Given the description of an element on the screen output the (x, y) to click on. 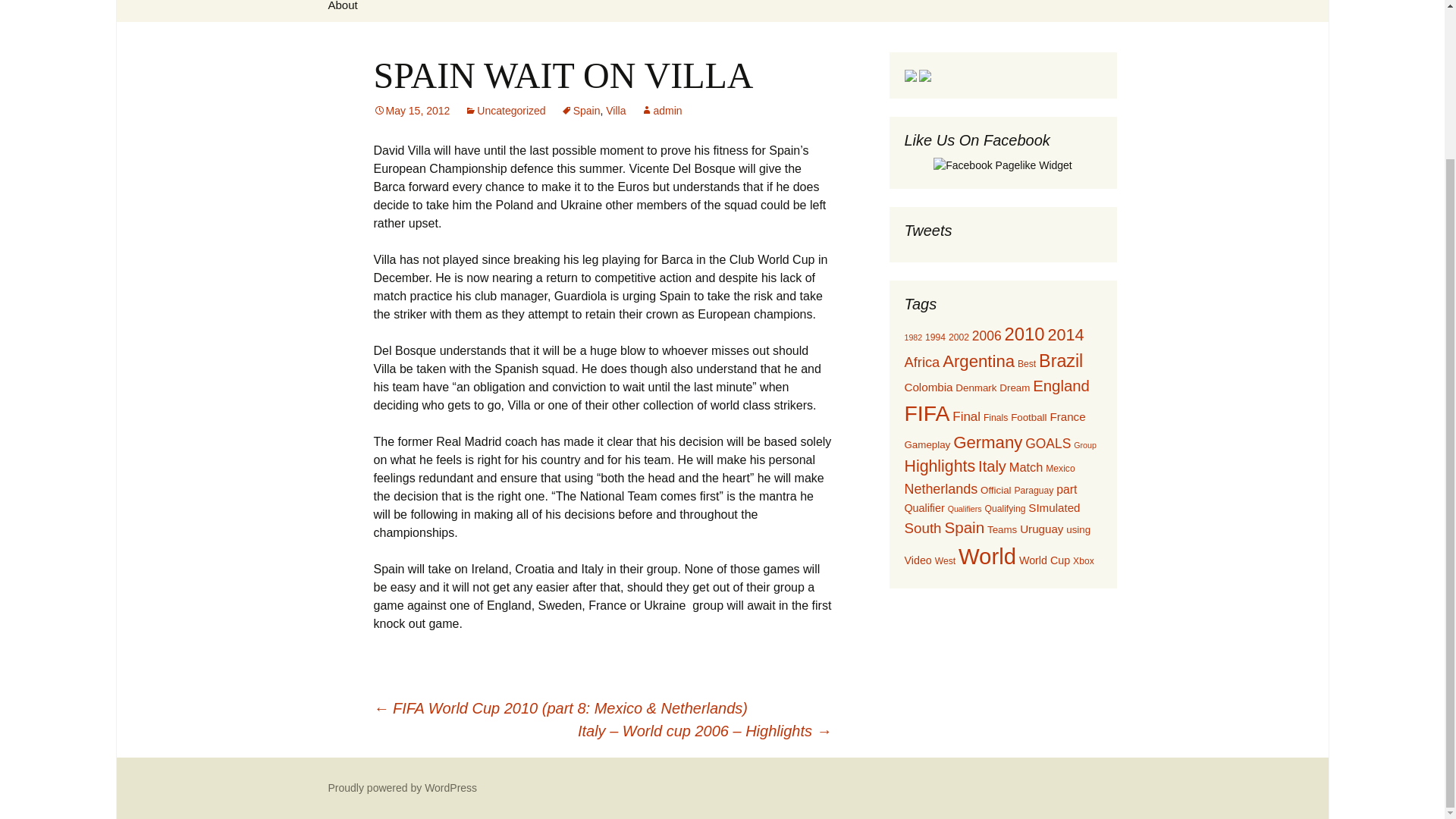
View all posts by admin (660, 110)
Highlights (939, 466)
Gameplay (927, 444)
Football (1028, 417)
1982 (912, 337)
Denmark (975, 387)
Argentina (978, 361)
Mexico (1059, 468)
2006 (986, 335)
2002 (959, 337)
Group (1085, 444)
2010 (1023, 333)
FIFA (926, 413)
Best (1026, 363)
Uncategorized (504, 110)
